Given the description of an element on the screen output the (x, y) to click on. 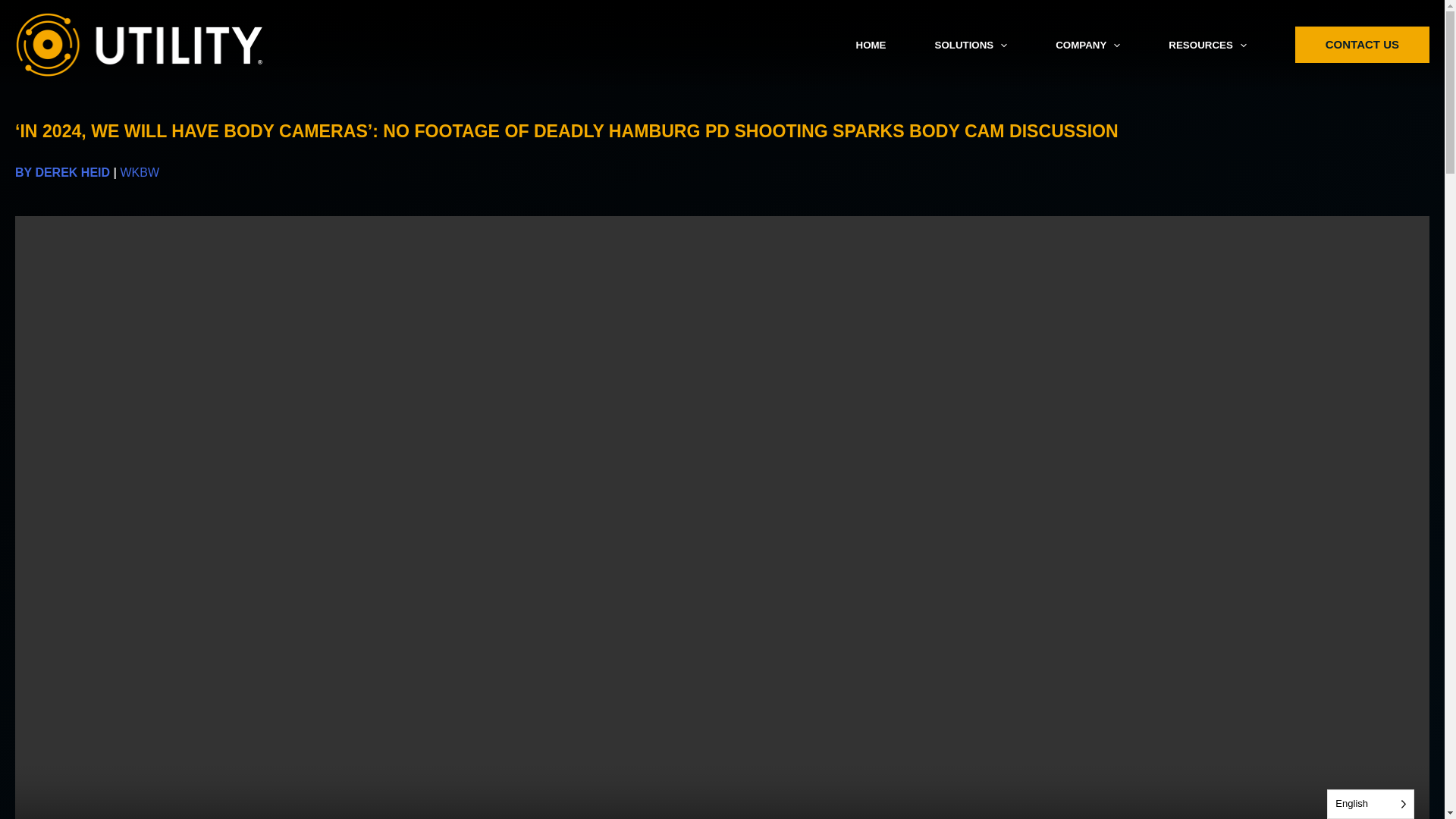
HOME (870, 46)
COMPANY (1088, 46)
RESOURCES (1206, 46)
SOLUTIONS (970, 46)
